Given the description of an element on the screen output the (x, y) to click on. 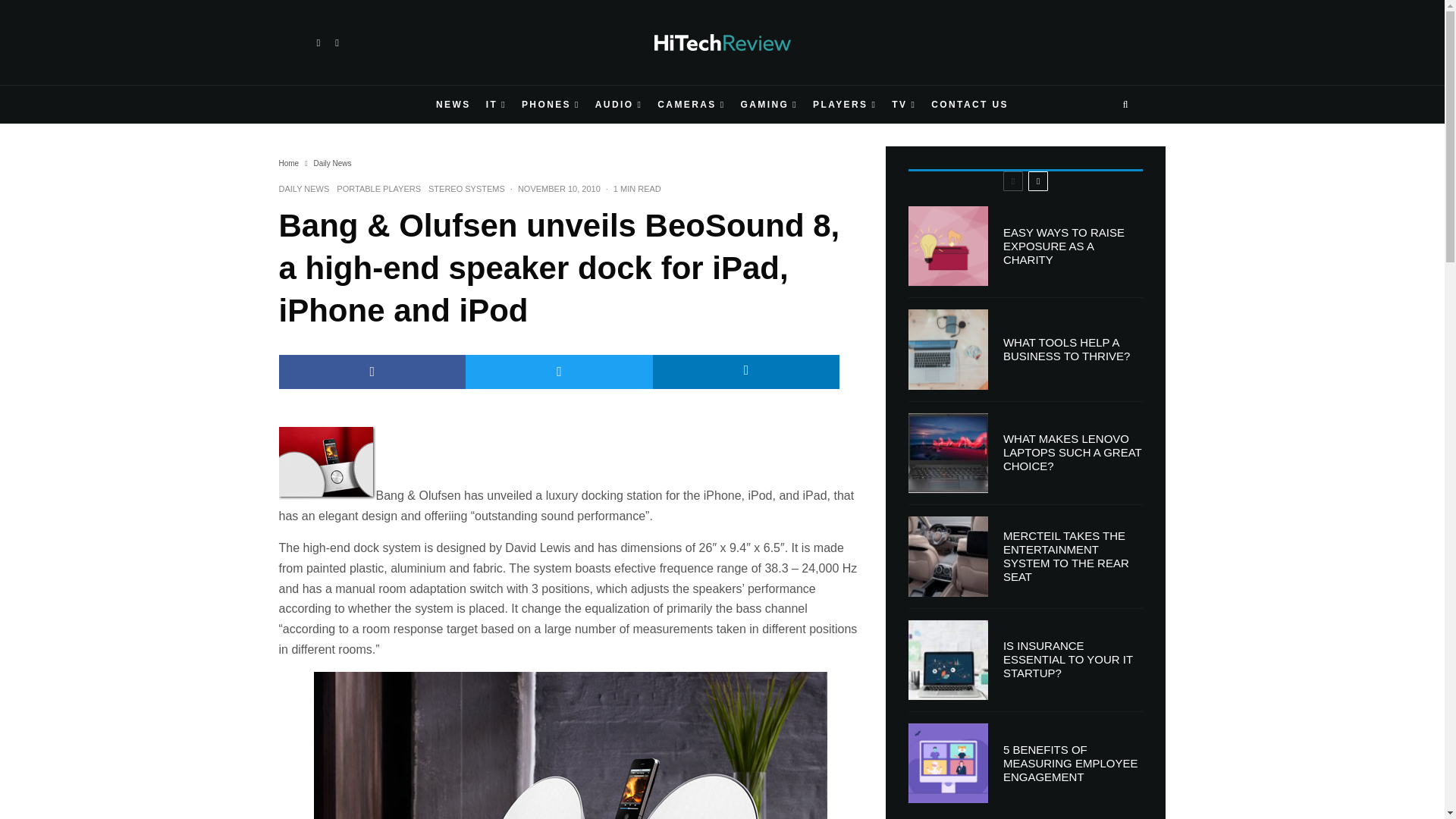
IT (496, 104)
PHONES (550, 104)
BeoSound8 (327, 462)
NEWS (453, 104)
